Given the description of an element on the screen output the (x, y) to click on. 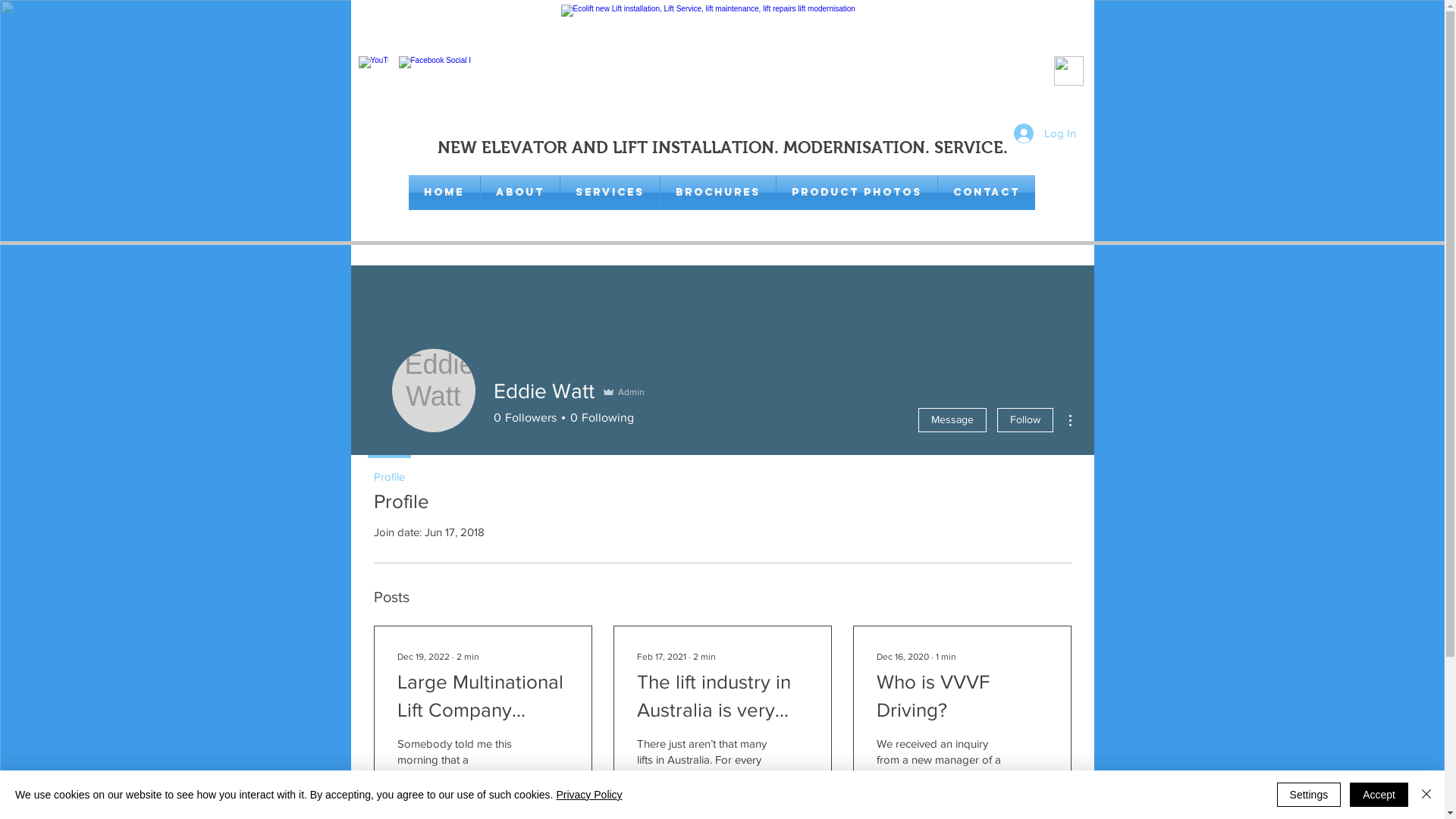
Contact Element type: text (985, 192)
Log In Element type: text (1043, 132)
About Element type: text (519, 192)
Brochures Element type: text (717, 192)
Profile Element type: text (388, 470)
0
Following Element type: text (598, 417)
Eddie Watt Element type: hover (432, 390)
Privacy Policy Element type: text (588, 794)
Contact Us Element type: hover (1068, 70)
Follow Element type: text (1024, 419)
ECOLIFT The Economical Alternative Element type: hover (722, 63)
Message Element type: text (951, 419)
Accept Element type: text (1378, 794)
Settings Element type: text (1309, 794)
Embedded Content Element type: hover (200, 78)
0
Followers Element type: text (523, 417)
Home Element type: text (443, 192)
Product Photos Element type: text (856, 192)
